Given the description of an element on the screen output the (x, y) to click on. 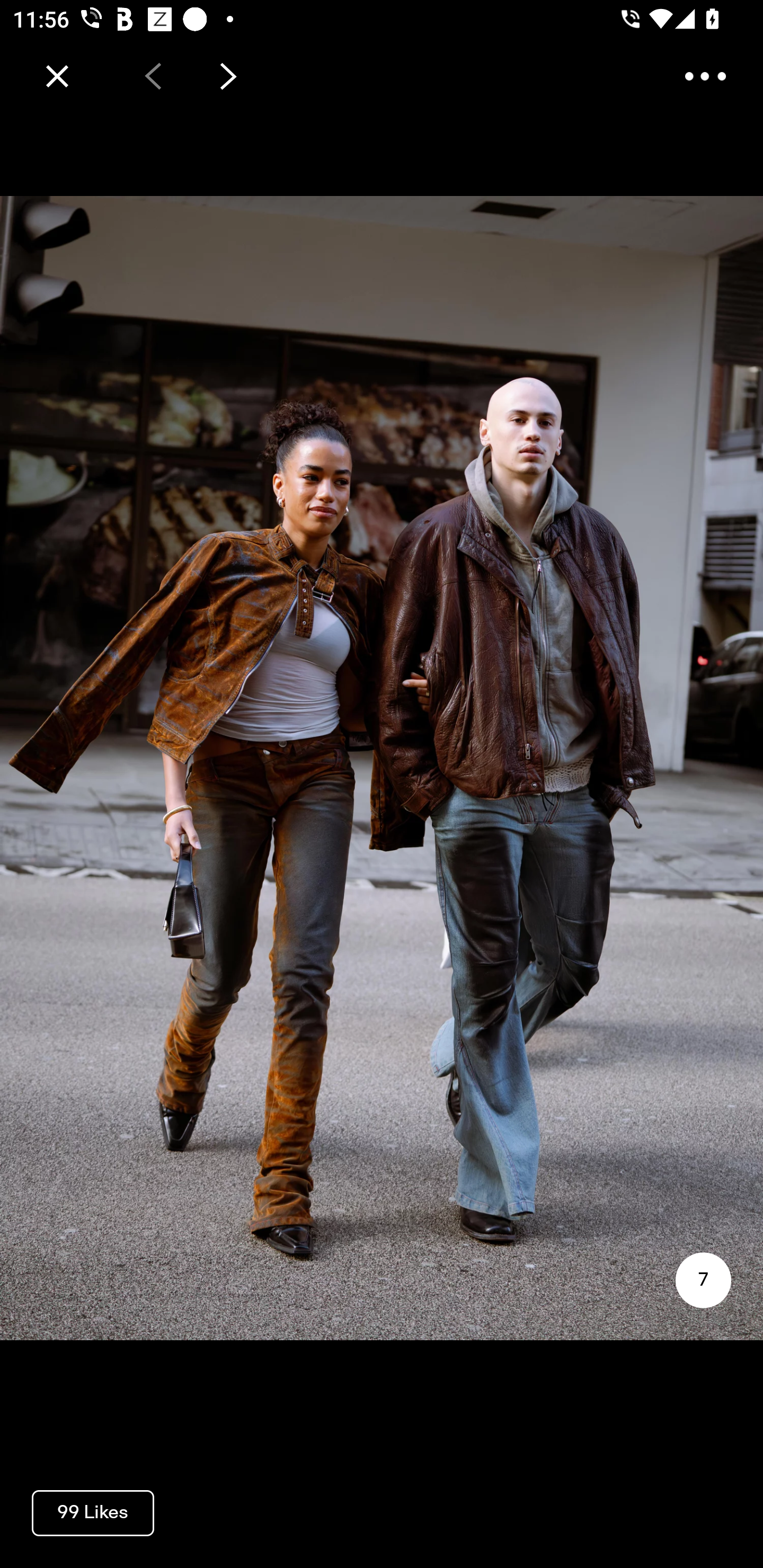
7 (702, 1279)
99 Likes (93, 1512)
